Given the description of an element on the screen output the (x, y) to click on. 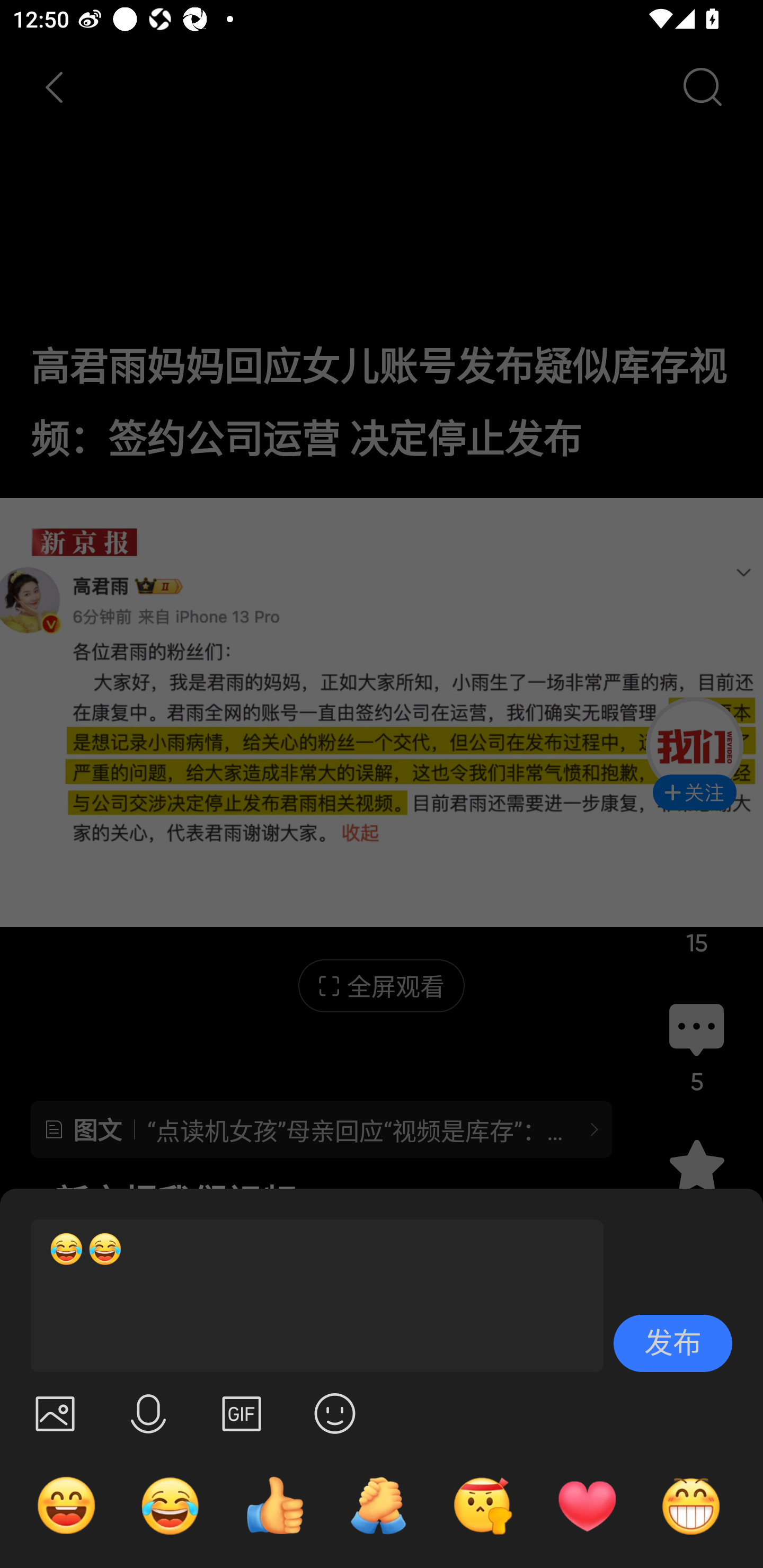
[哭笑][哭笑] (308, 1295)
发布 (672, 1343)
 (54, 1413)
 (148, 1413)
 (241, 1413)
 (334, 1413)
哈哈 (66, 1505)
哭笑 (170, 1505)
点赞 (274, 1505)
加油 (378, 1505)
奋斗 (482, 1505)
心 (586, 1505)
呲牙 (690, 1505)
